Given the description of an element on the screen output the (x, y) to click on. 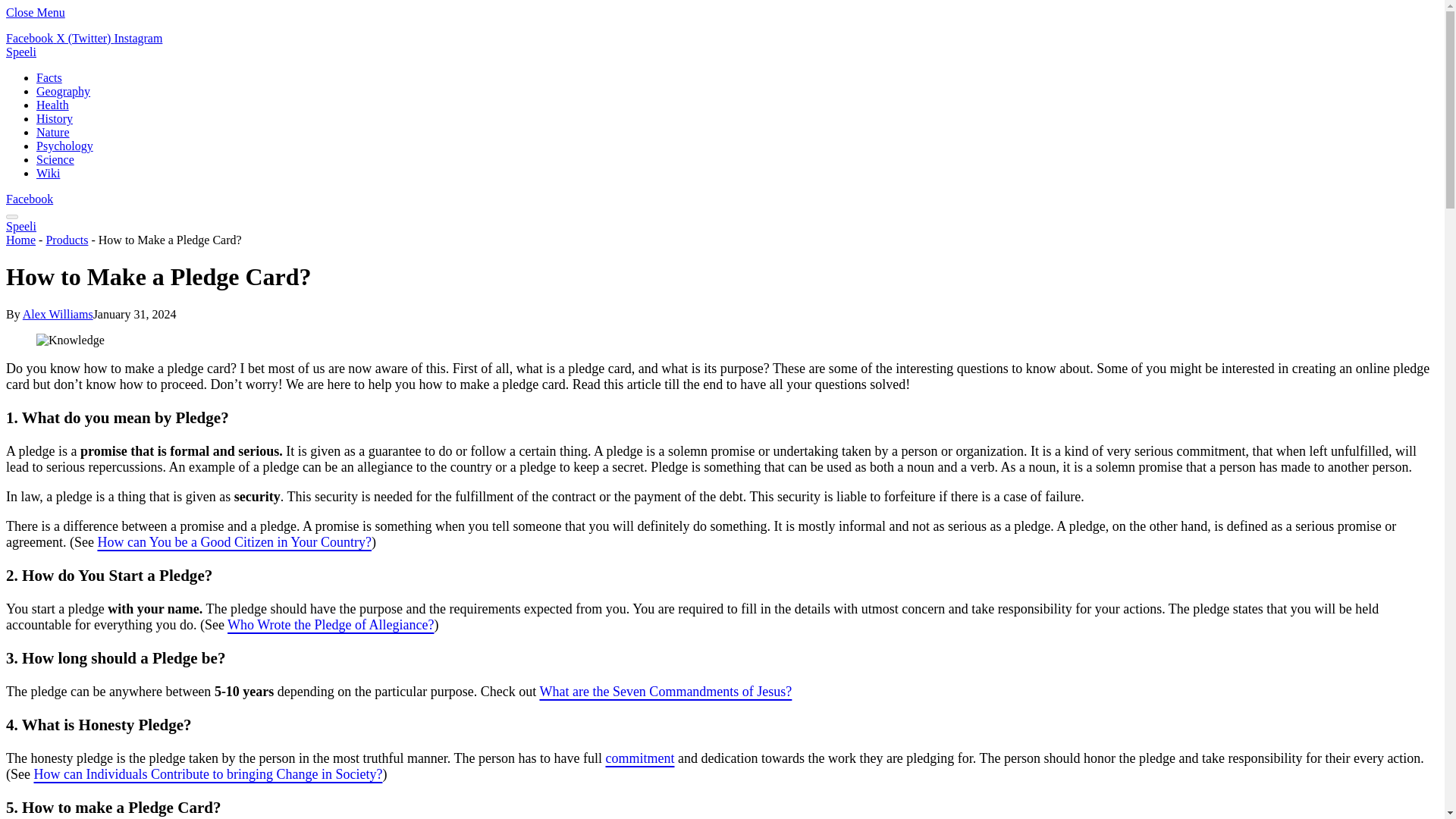
Facts (49, 77)
Close Menu (35, 11)
Speeli (20, 226)
Facebook (30, 38)
What are the Seven Commandments of Jesus? (665, 691)
commitment (639, 758)
Speeli (20, 51)
Nature (52, 132)
How can You be a Good Citizen in Your Country? (234, 541)
Speeli (20, 51)
